Given the description of an element on the screen output the (x, y) to click on. 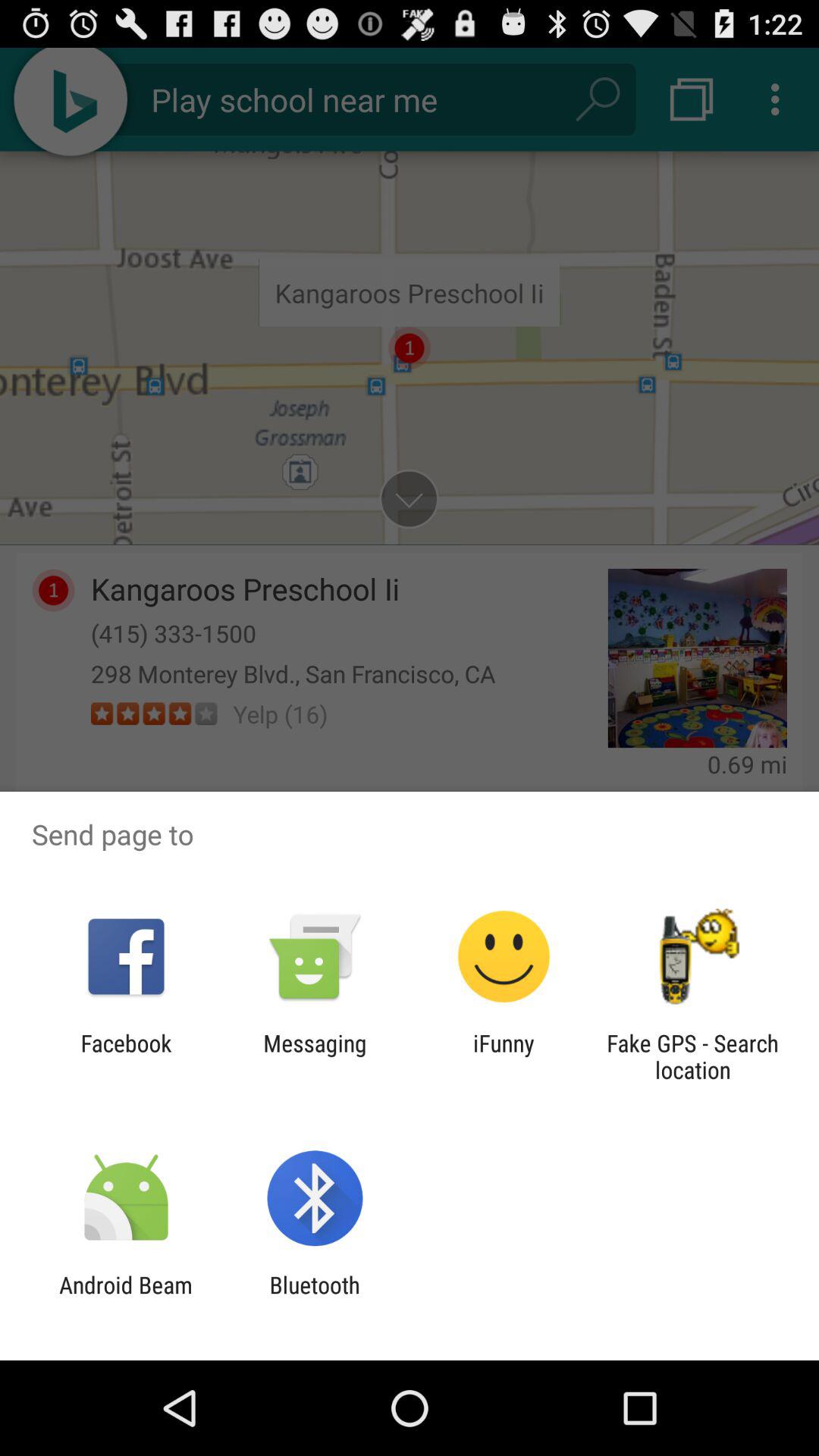
turn on app to the left of ifunny app (314, 1056)
